Given the description of an element on the screen output the (x, y) to click on. 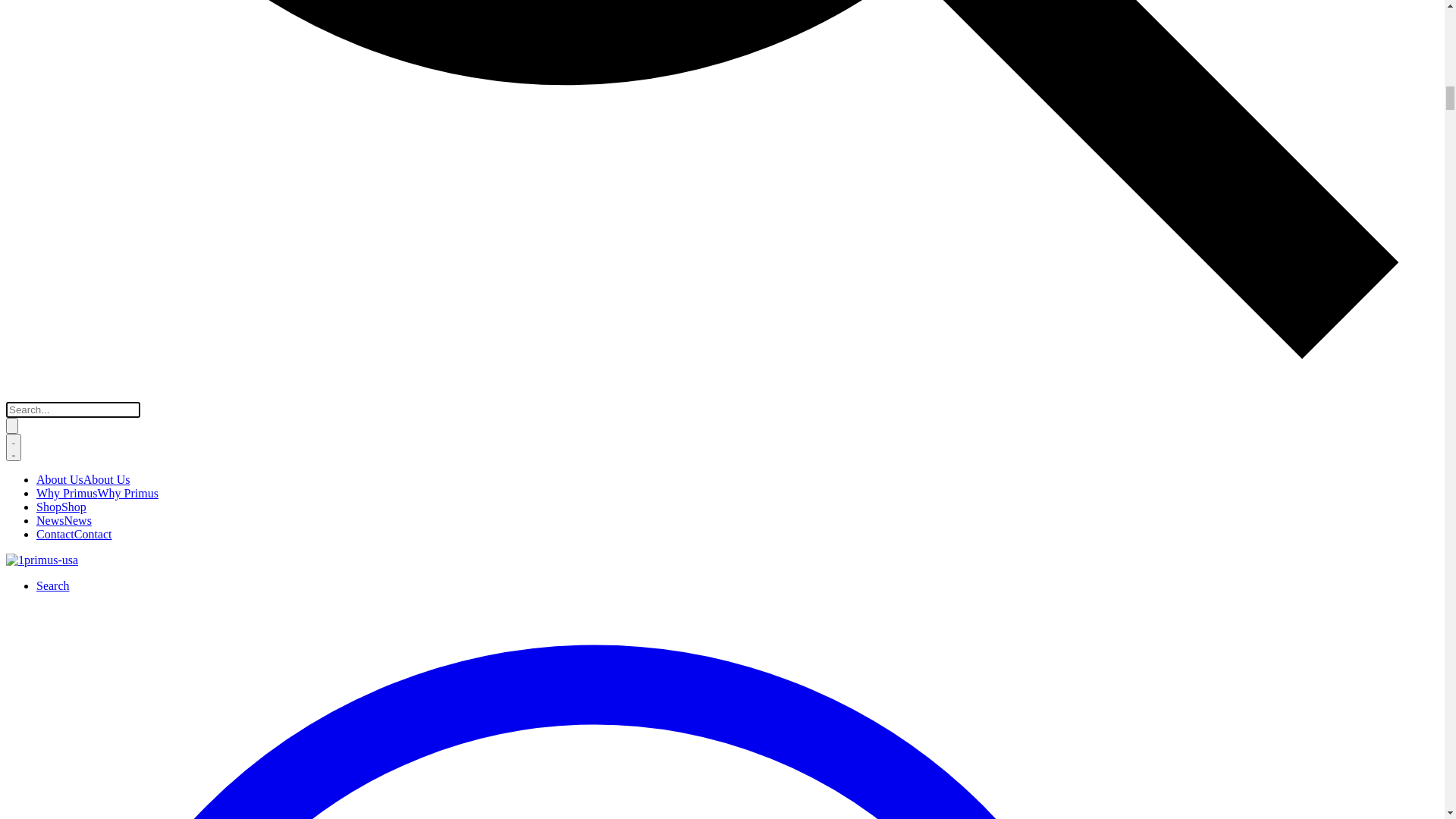
About Us Element type: text (29, 41)
Why Primus Element type: text (36, 55)
Shop Element type: text (18, 68)
Skip to content Element type: text (42, 12)
News Element type: text (19, 82)
Contact Element type: text (24, 96)
